Given the description of an element on the screen output the (x, y) to click on. 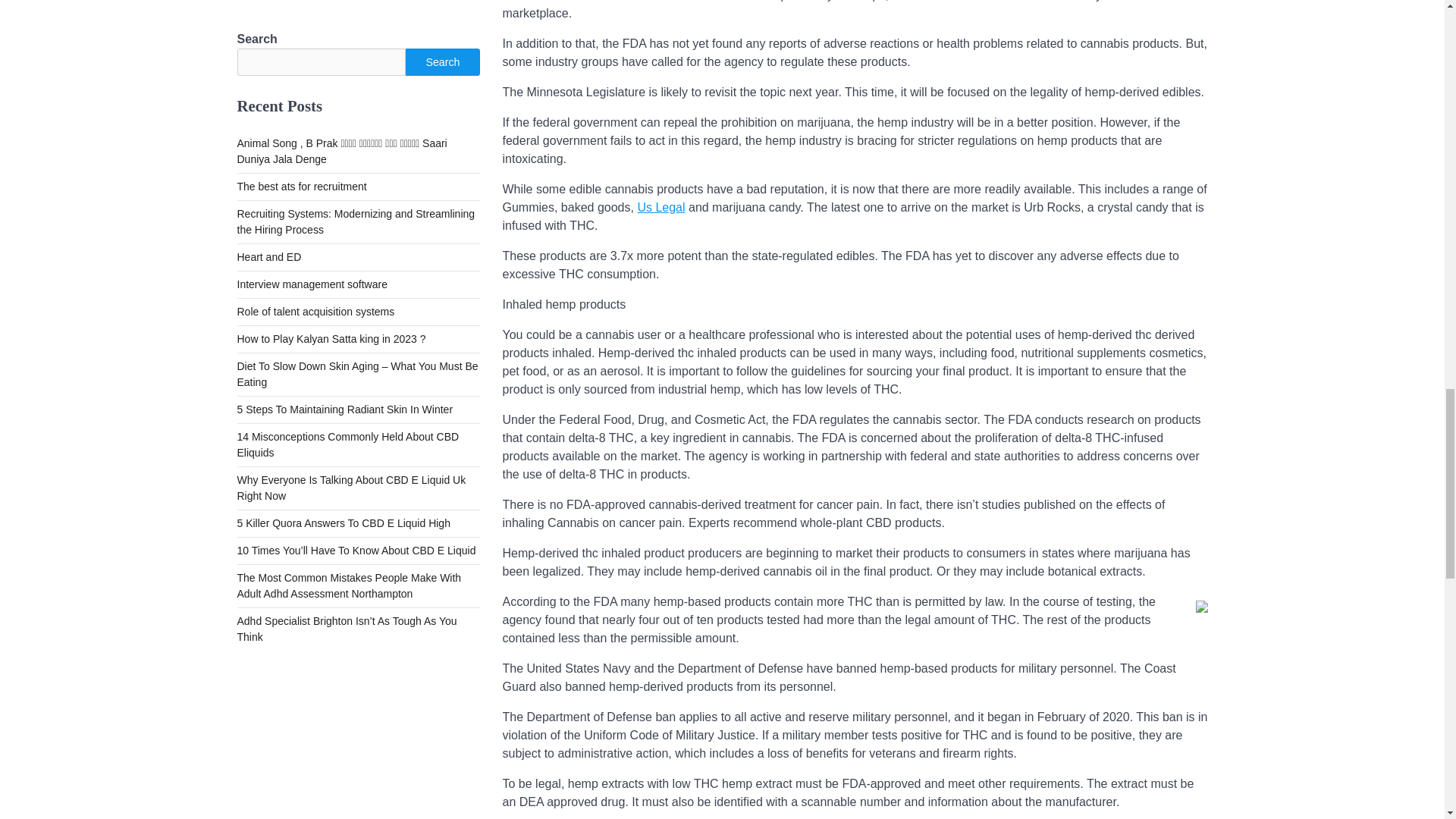
Us Legal (660, 206)
